Given the description of an element on the screen output the (x, y) to click on. 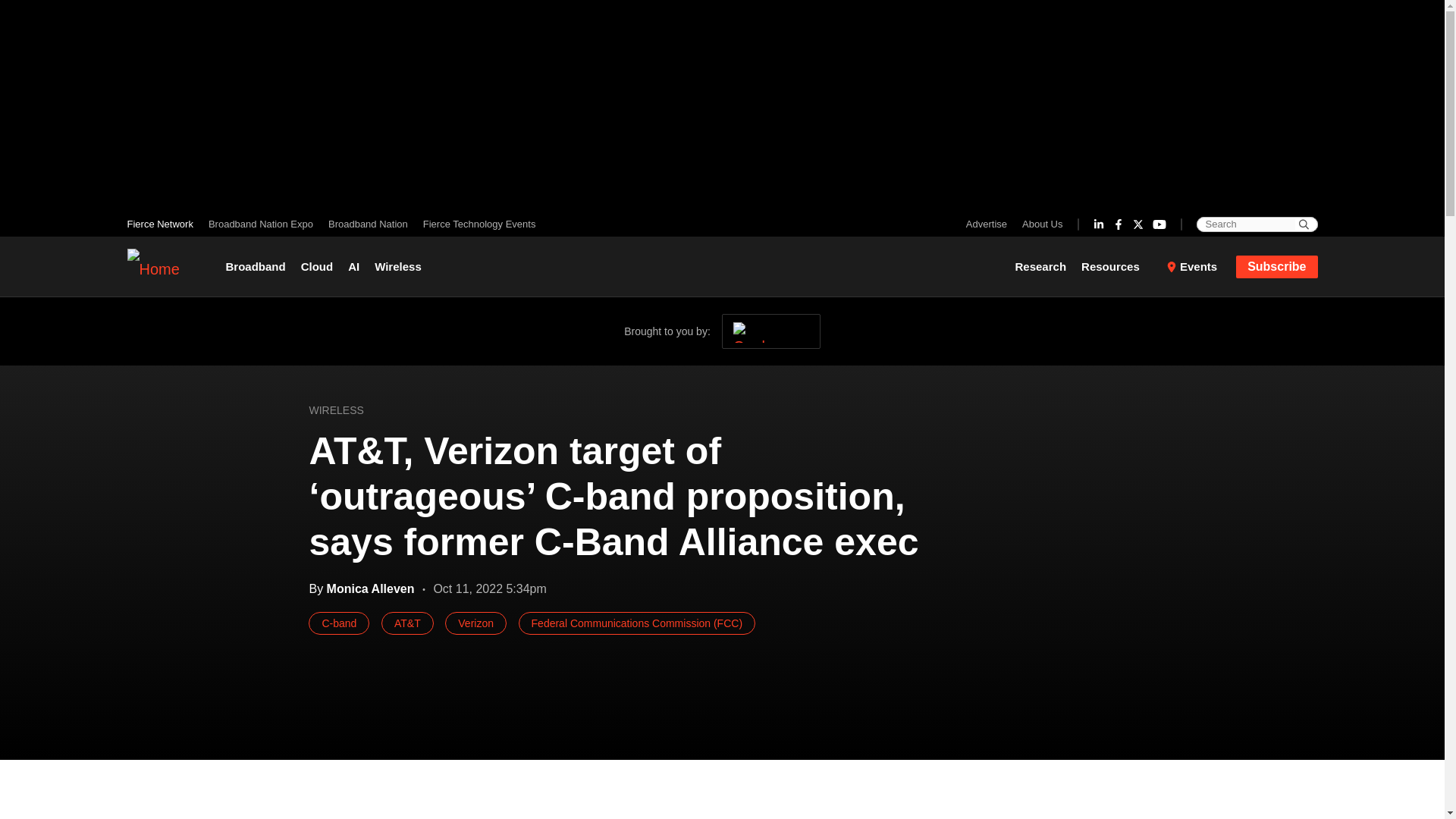
Broadband Nation (367, 224)
Broadband (259, 266)
Subscribe (1276, 265)
AI (353, 266)
Research (1044, 266)
Fierce Network (164, 224)
Broadband Nation Expo (260, 224)
Resources (1116, 266)
Cloud (317, 266)
Advertise (990, 224)
About Us (1038, 224)
Fierce Technology Events (474, 224)
Wireless (397, 266)
